Given the description of an element on the screen output the (x, y) to click on. 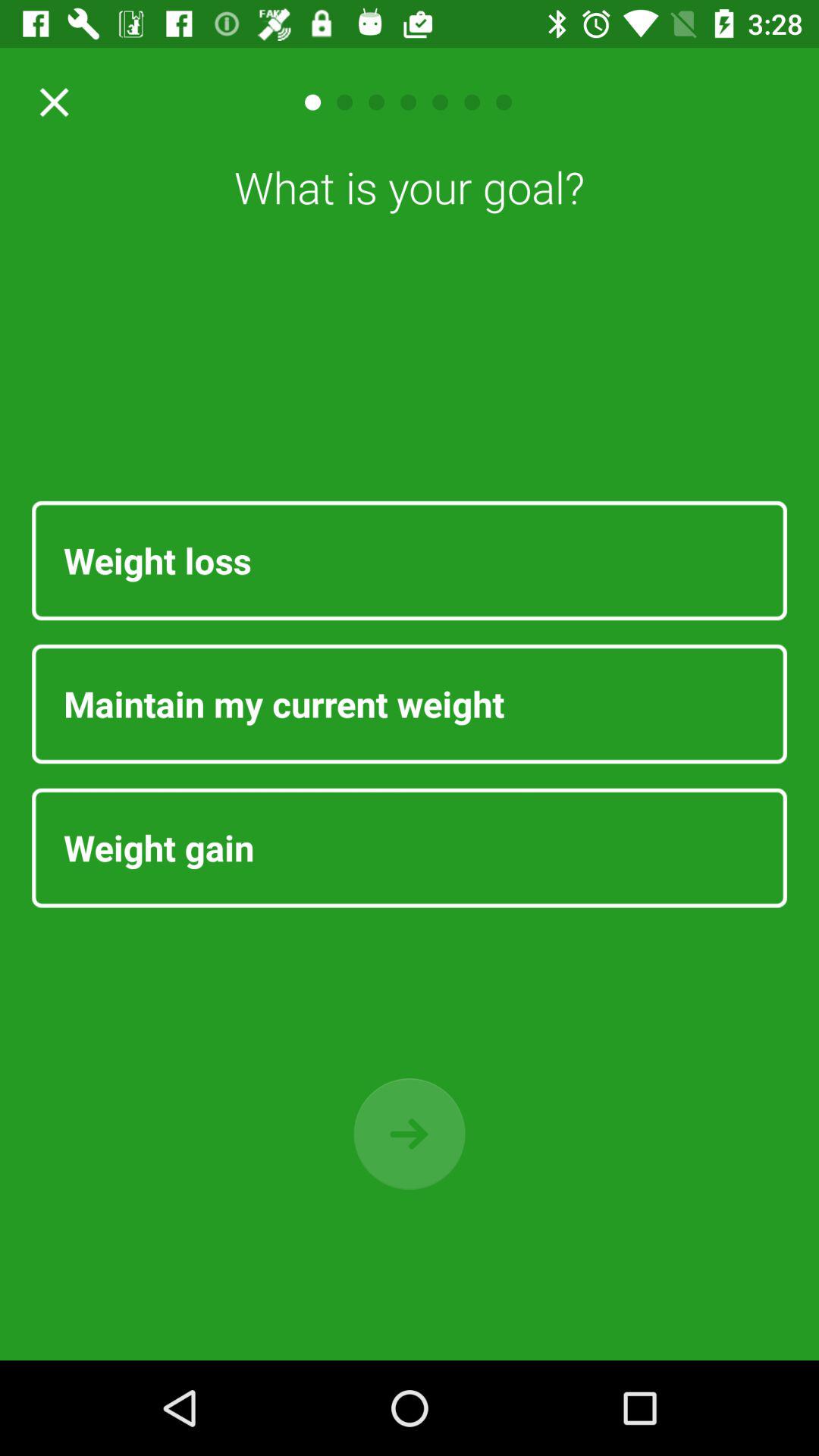
go back (409, 1133)
